Given the description of an element on the screen output the (x, y) to click on. 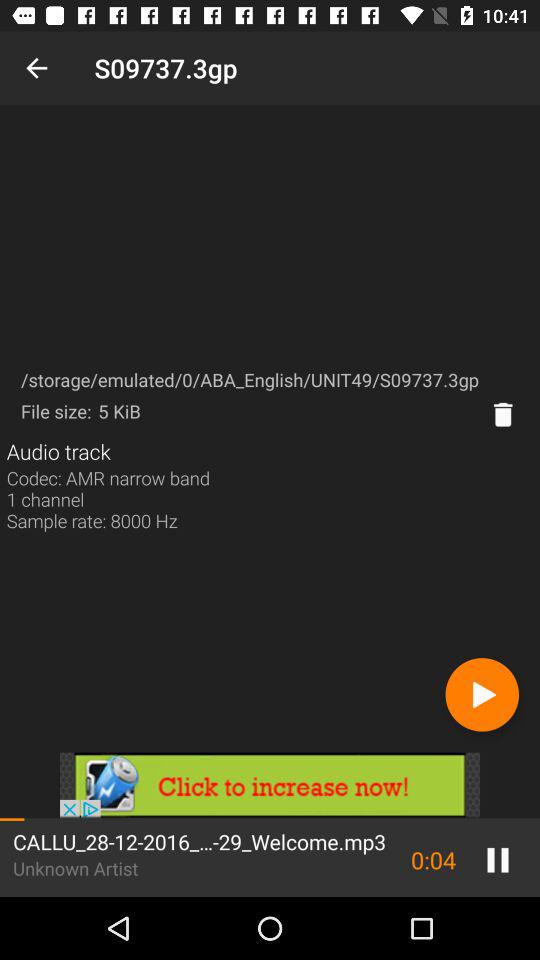
delete (503, 414)
